Given the description of an element on the screen output the (x, y) to click on. 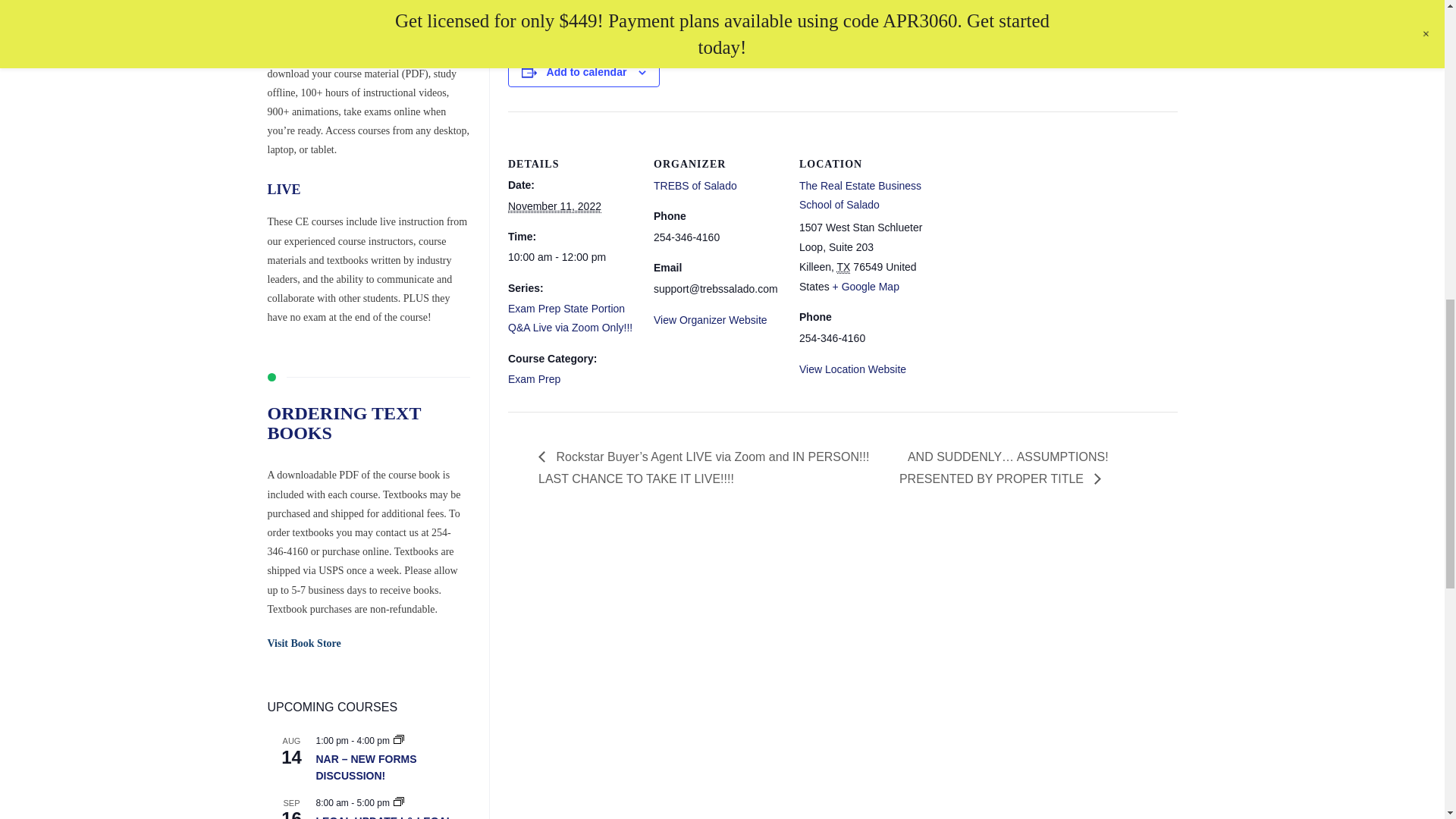
Event Series (398, 802)
2022-11-11 (554, 205)
Texas (843, 267)
Click to view a Google Map (865, 286)
Event Series (398, 740)
Event Series (398, 800)
Event Series (398, 738)
TREBS of Salado (694, 185)
2022-11-11 (571, 257)
